Given the description of an element on the screen output the (x, y) to click on. 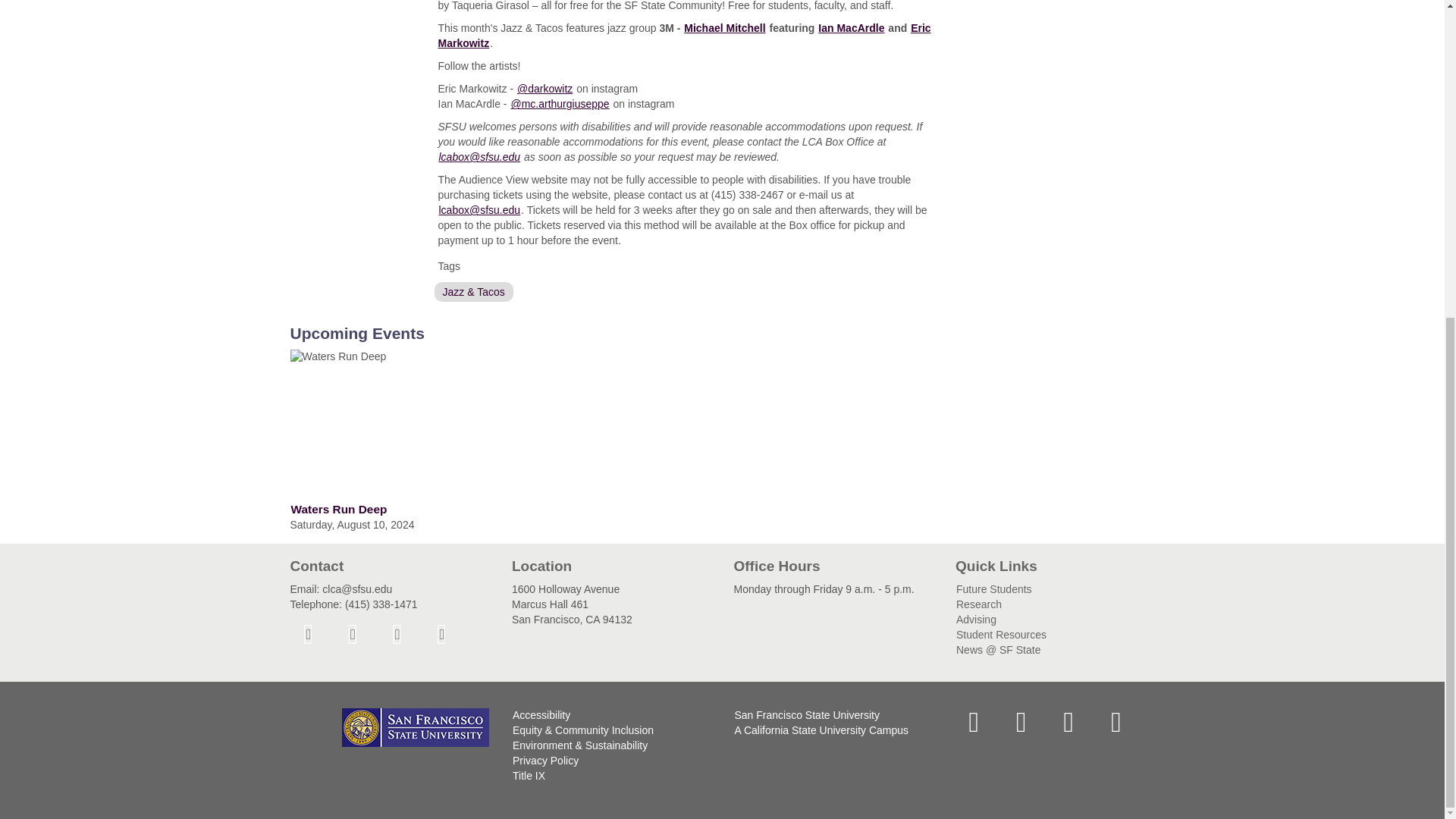
Advising (976, 618)
Facebook (307, 632)
Ian MacArdle (850, 27)
SF State Facebook (973, 720)
Michael Mitchell (723, 27)
Twitter (352, 632)
SF State LinkedIn (1116, 720)
SF State Instagram (1068, 720)
Research (979, 603)
SF State Twitter (1022, 720)
